Given the description of an element on the screen output the (x, y) to click on. 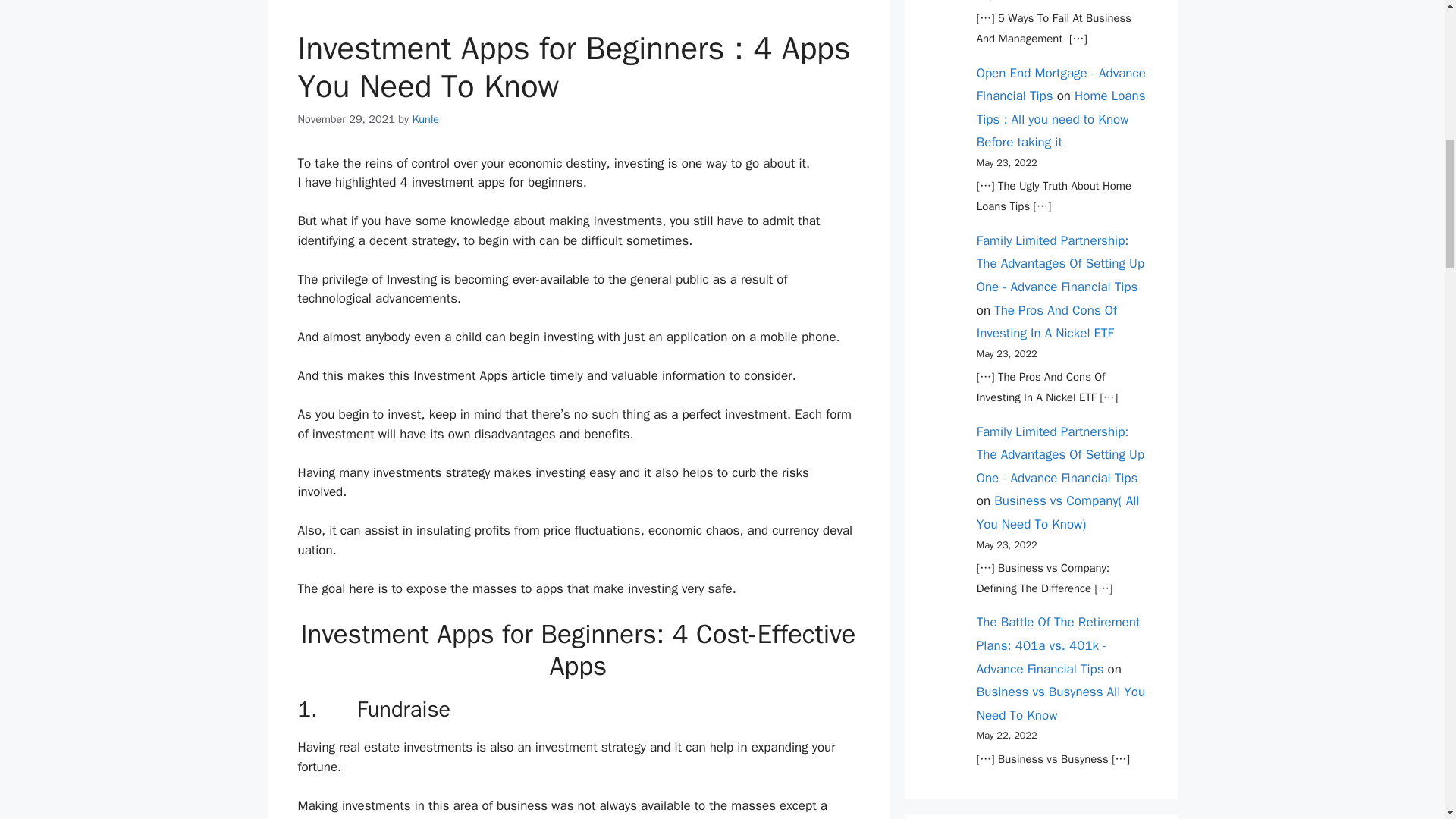
Open End Mortgage - Advance Financial Tips (1060, 84)
The Pros And Cons Of Investing In A Nickel ETF (1046, 322)
Home Loans Tips : All you need to Know Before taking it (1060, 118)
Kunle (425, 119)
View all posts by Kunle (425, 119)
